Given the description of an element on the screen output the (x, y) to click on. 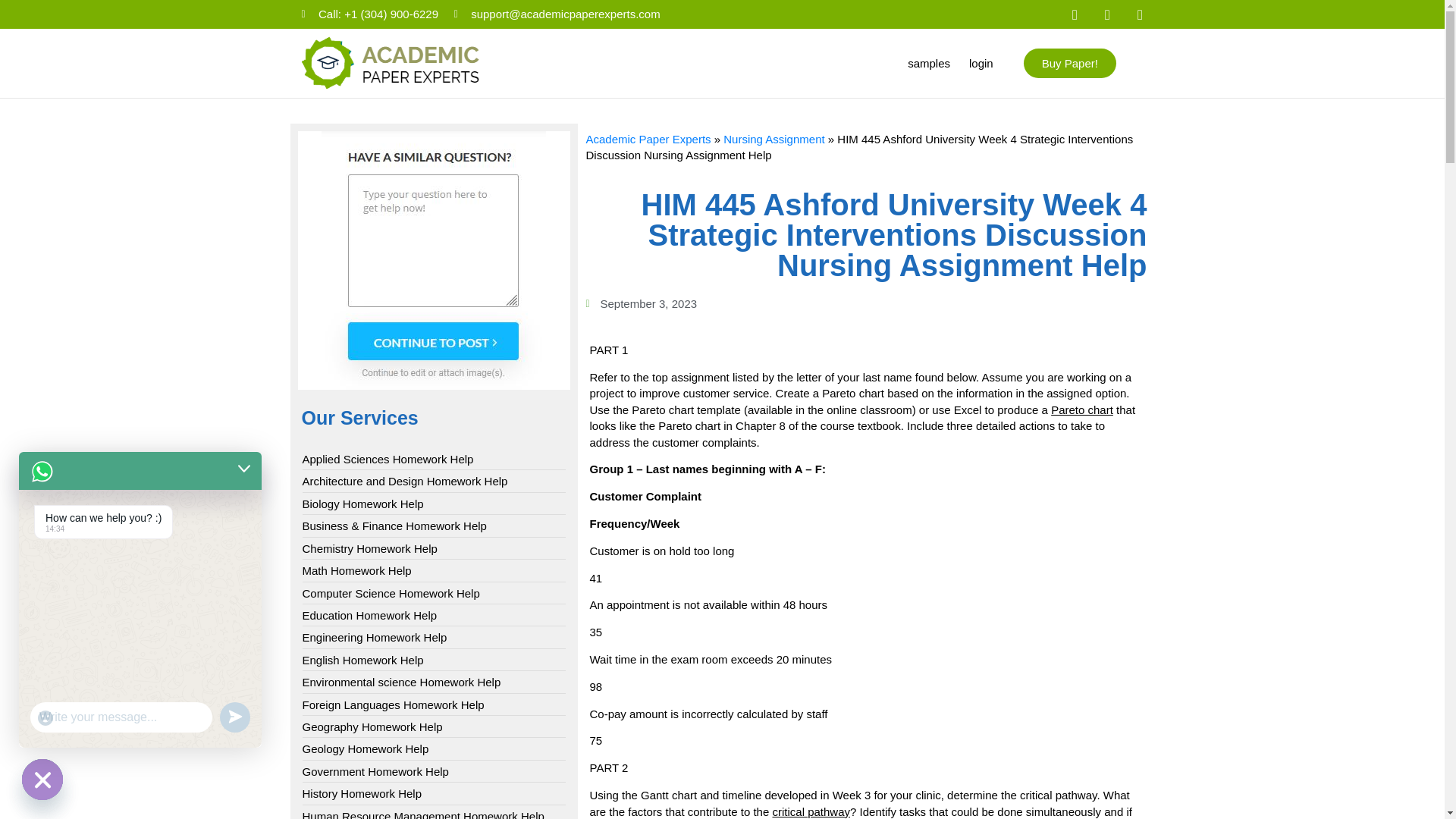
Math Homework Help (355, 570)
Architecture and Design Homework Help (403, 480)
login (981, 62)
English Homework Help (362, 659)
Environmental science Homework Help (400, 682)
Applied Sciences Homework Help (387, 458)
Buy Paper! (1069, 62)
samples (928, 62)
Education Homework Help (368, 615)
History Homework Help (361, 793)
Computer Science Homework Help (390, 593)
Engineering Homework Help (373, 637)
Government Homework Help (374, 771)
Biology Homework Help (362, 503)
Geography Homework Help (371, 726)
